Given the description of an element on the screen output the (x, y) to click on. 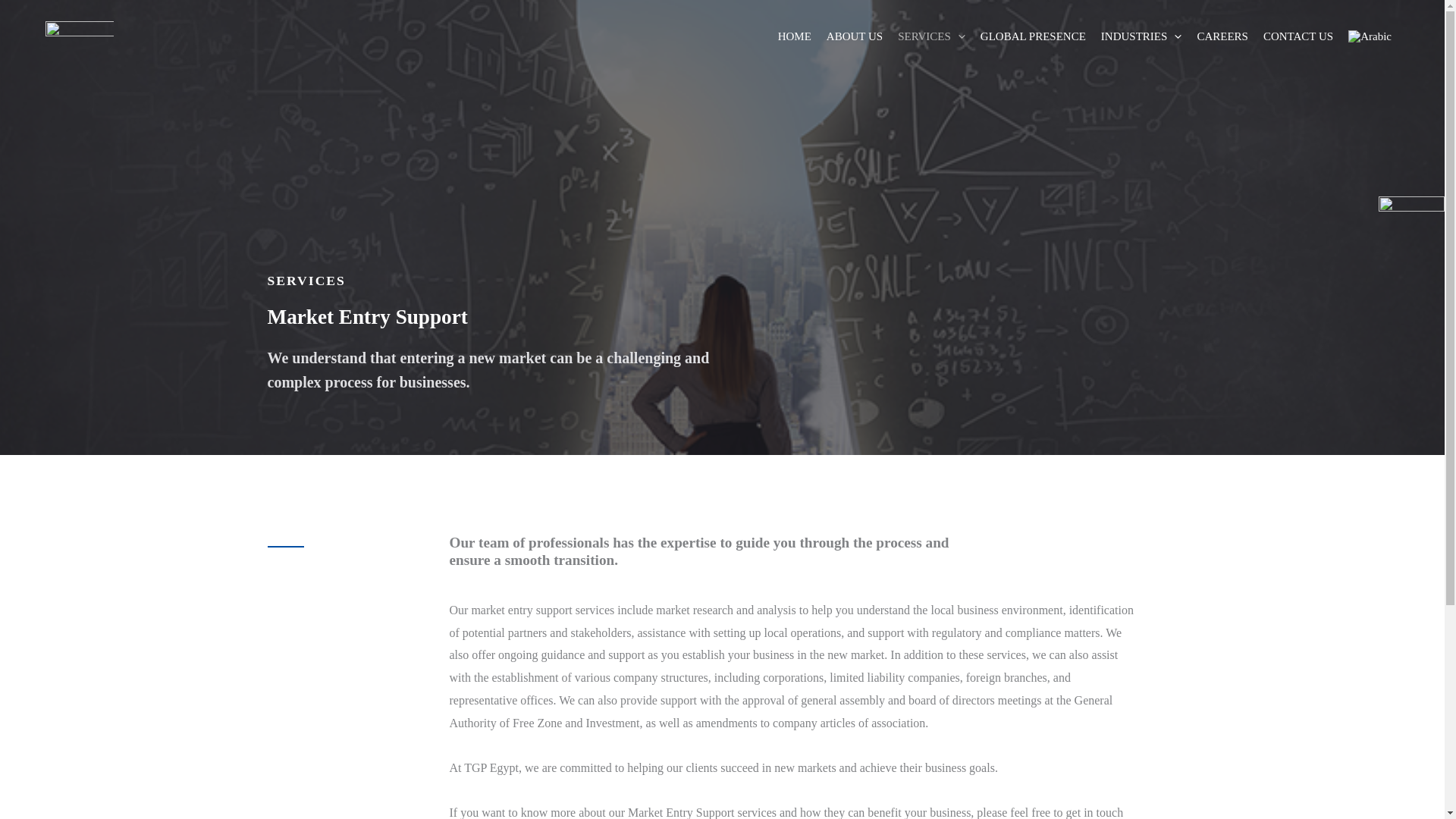
HOME (794, 36)
GLOBAL PRESENCE (1032, 36)
INDUSTRIES (1141, 36)
ABOUT US (853, 36)
SERVICES (930, 36)
CAREERS (1222, 36)
CONTACT US (1297, 36)
